Given the description of an element on the screen output the (x, y) to click on. 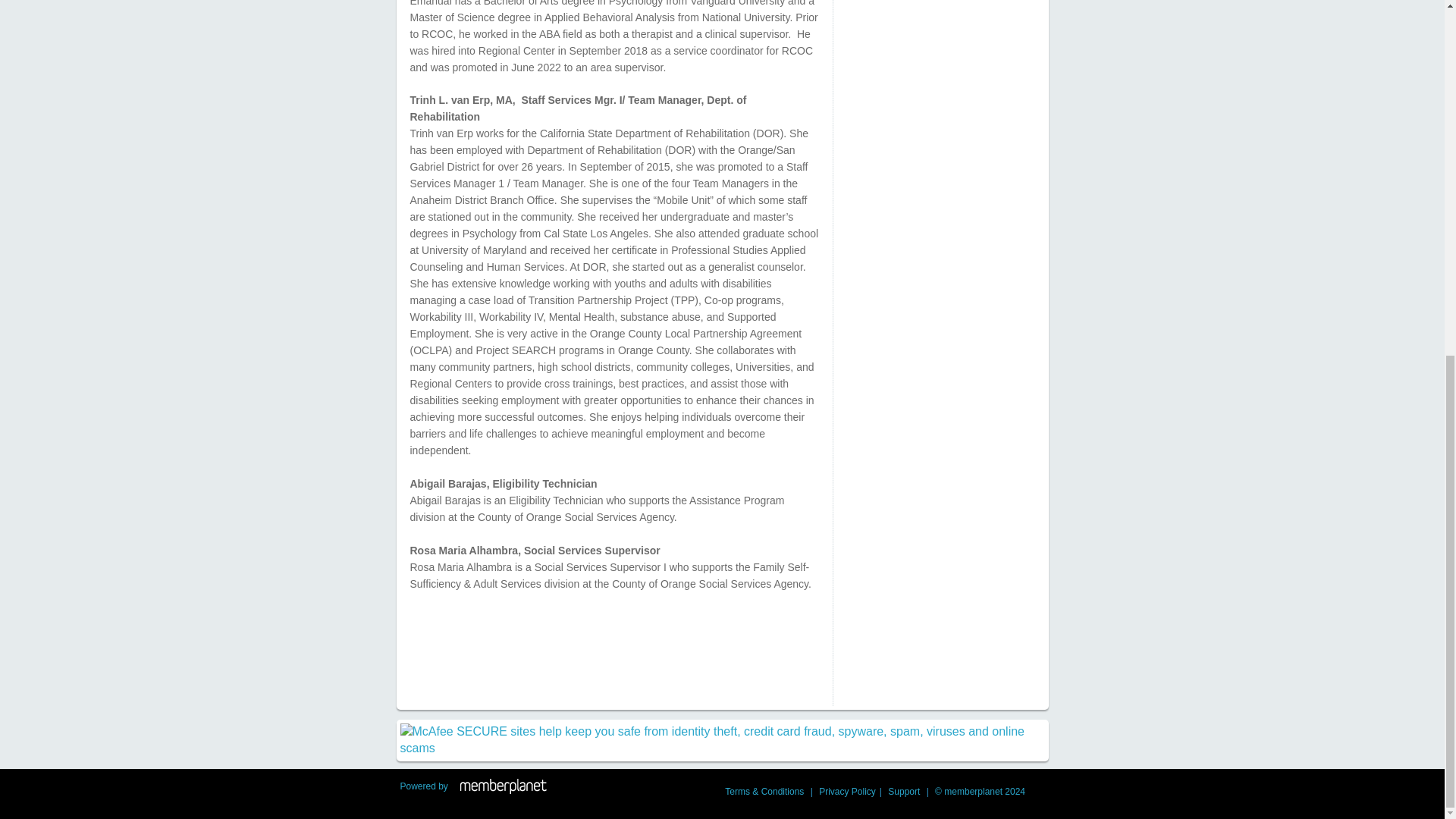
Powered by (423, 786)
Privacy Policy (847, 791)
Support (903, 791)
